Given the description of an element on the screen output the (x, y) to click on. 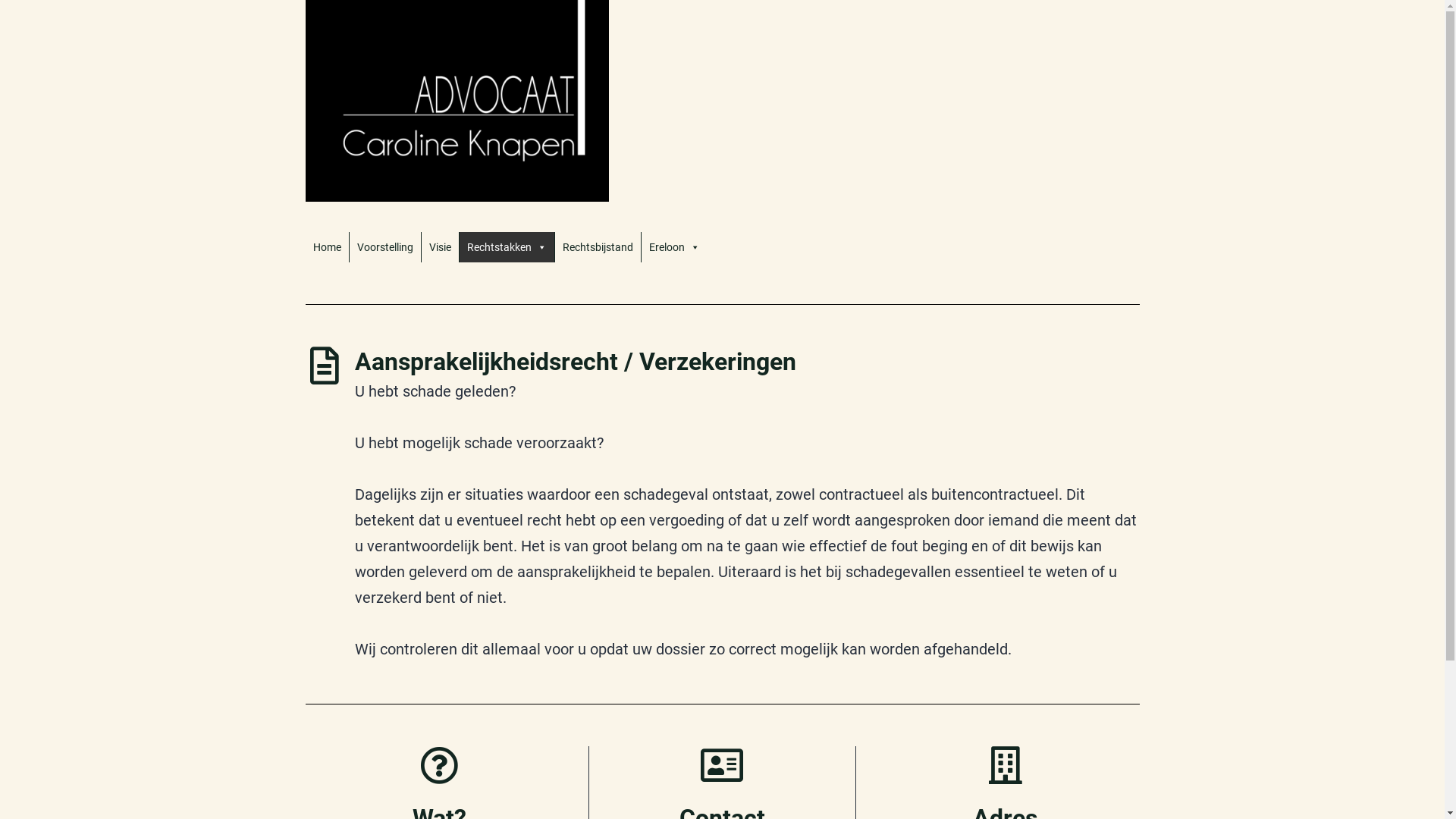
Visie Element type: text (439, 247)
Rechtsbijstand Element type: text (597, 247)
Voorstelling Element type: text (384, 247)
Rechtstakken Element type: text (506, 247)
Home Element type: text (326, 247)
Ereloon Element type: text (674, 247)
